Given the description of an element on the screen output the (x, y) to click on. 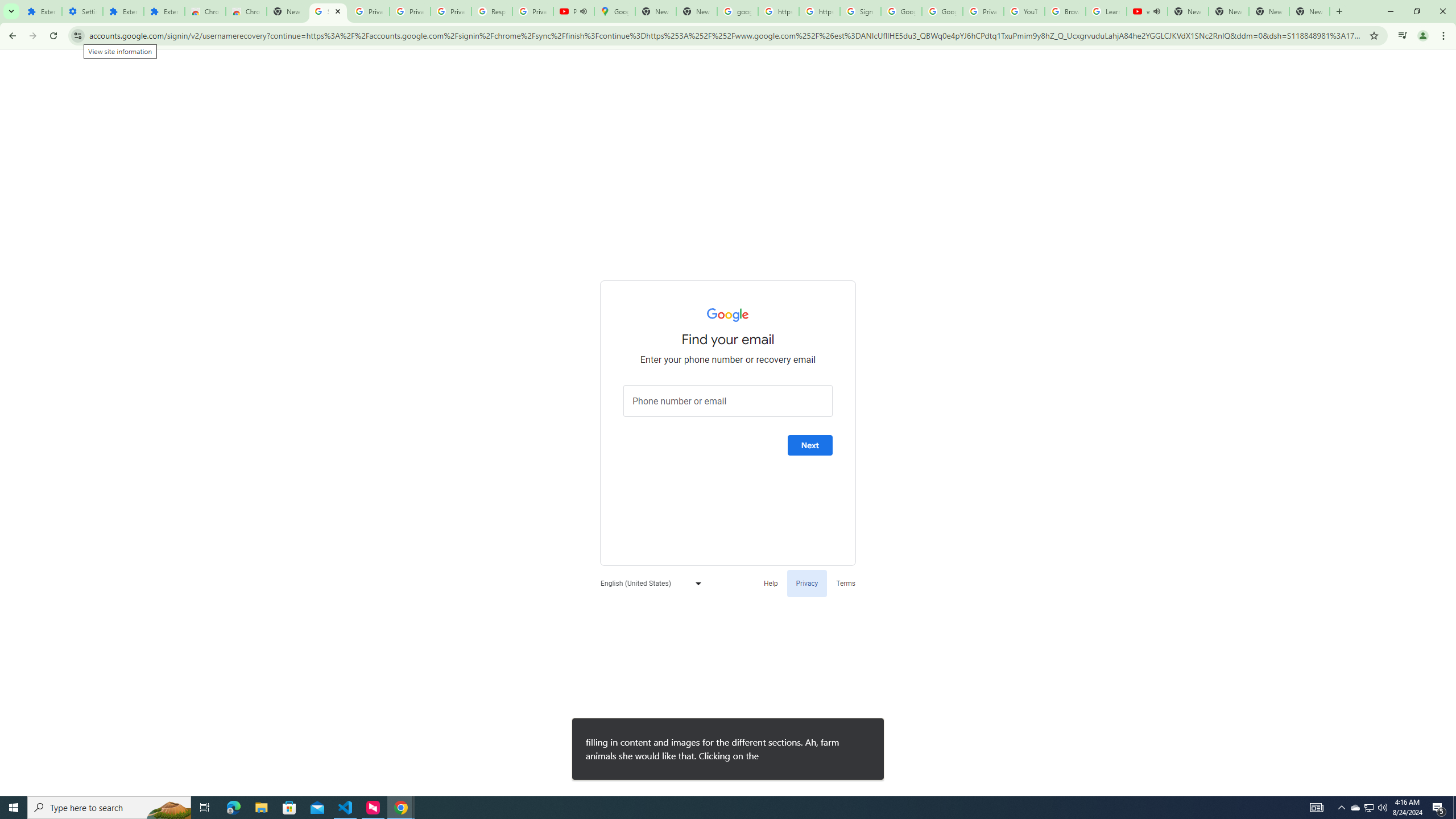
Chrome Web Store (205, 11)
YouTube (1023, 11)
Personalized AI for you | Gemini - YouTube - Audio playing (573, 11)
Extensions (163, 11)
https://scholar.google.com/ (777, 11)
Sign in - Google Accounts (860, 11)
